Given the description of an element on the screen output the (x, y) to click on. 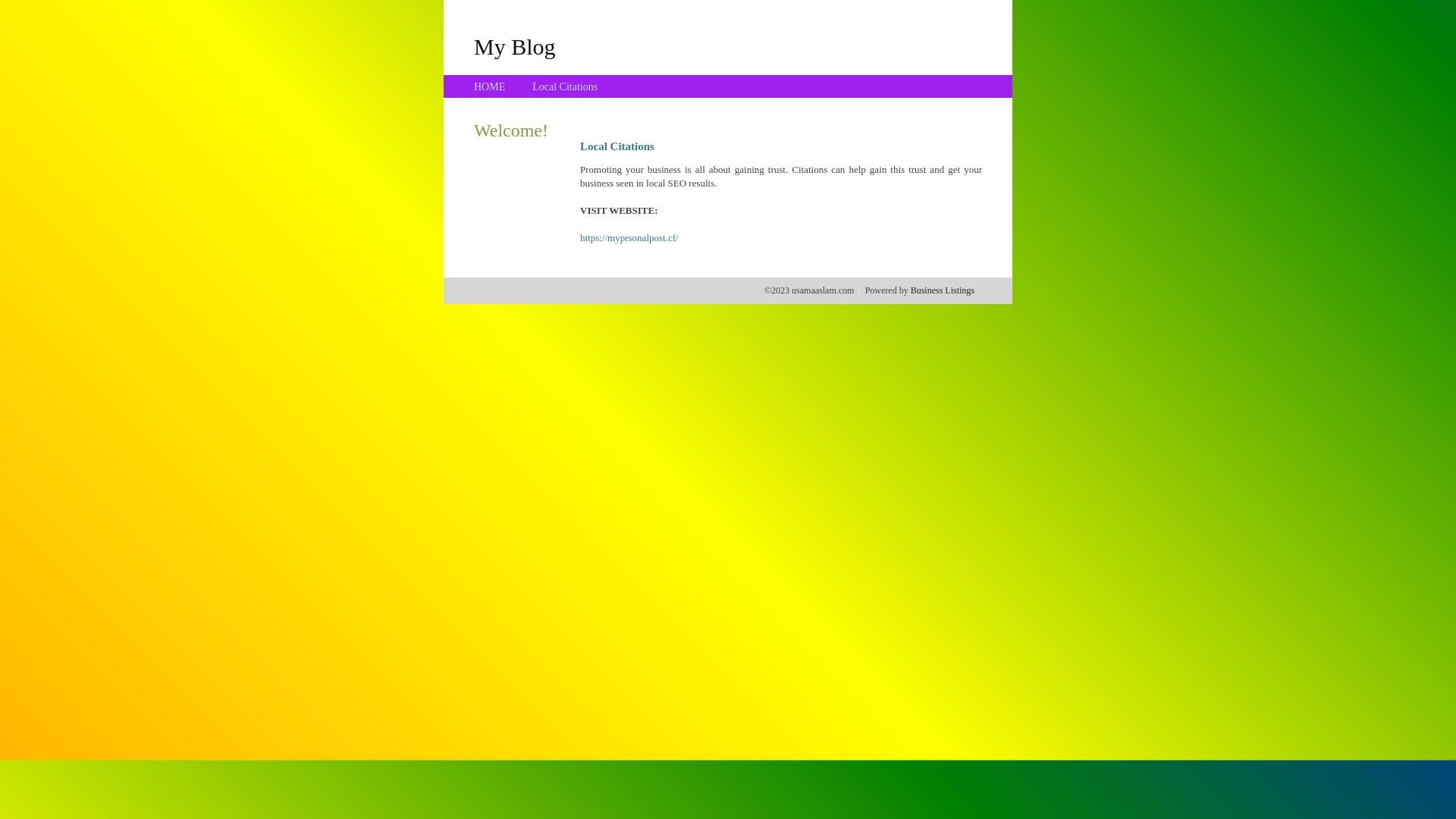
https://myprsonalpost.cf/ Element type: text (629, 237)
Business Listings Element type: text (942, 290)
Local Citations Element type: text (564, 86)
My Blog Element type: text (514, 46)
HOME Element type: text (489, 86)
